Given the description of an element on the screen output the (x, y) to click on. 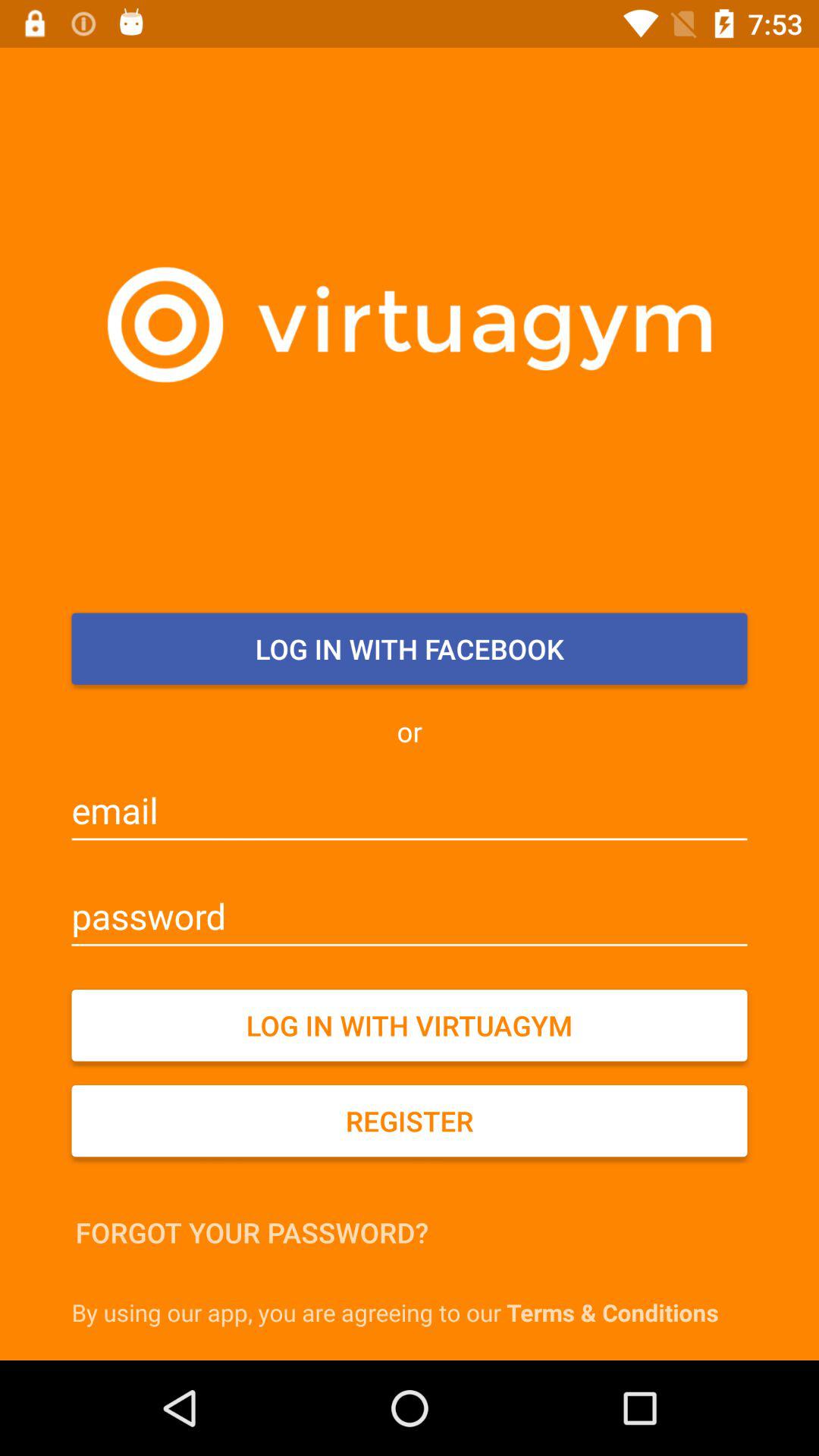
open the item below the register icon (251, 1232)
